Given the description of an element on the screen output the (x, y) to click on. 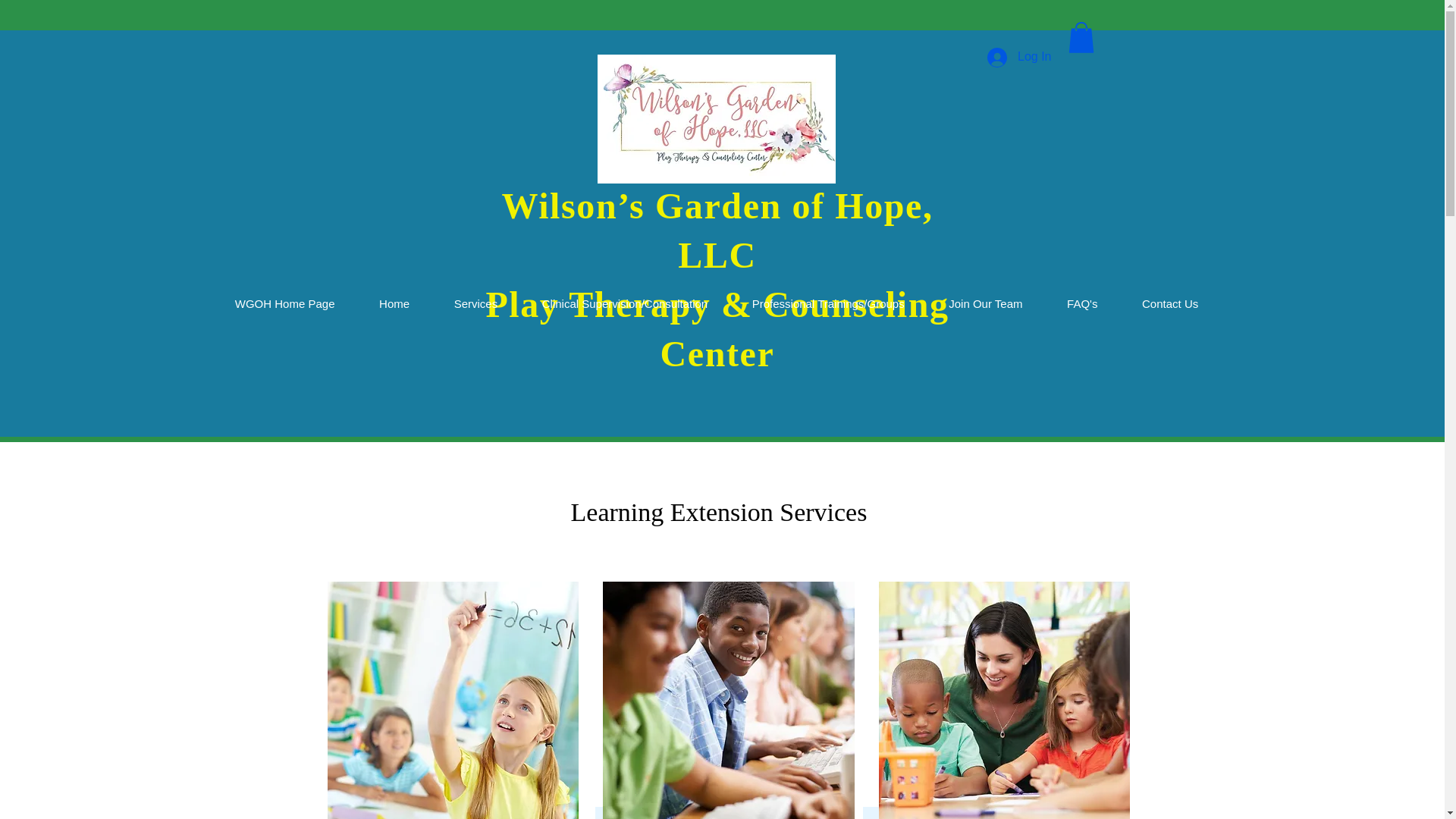
Join Our Team (985, 304)
Home (394, 304)
WGOH Home Page (284, 304)
FAQ's (1082, 304)
Log In (1018, 57)
Contact Us (1170, 304)
Services (474, 304)
